Given the description of an element on the screen output the (x, y) to click on. 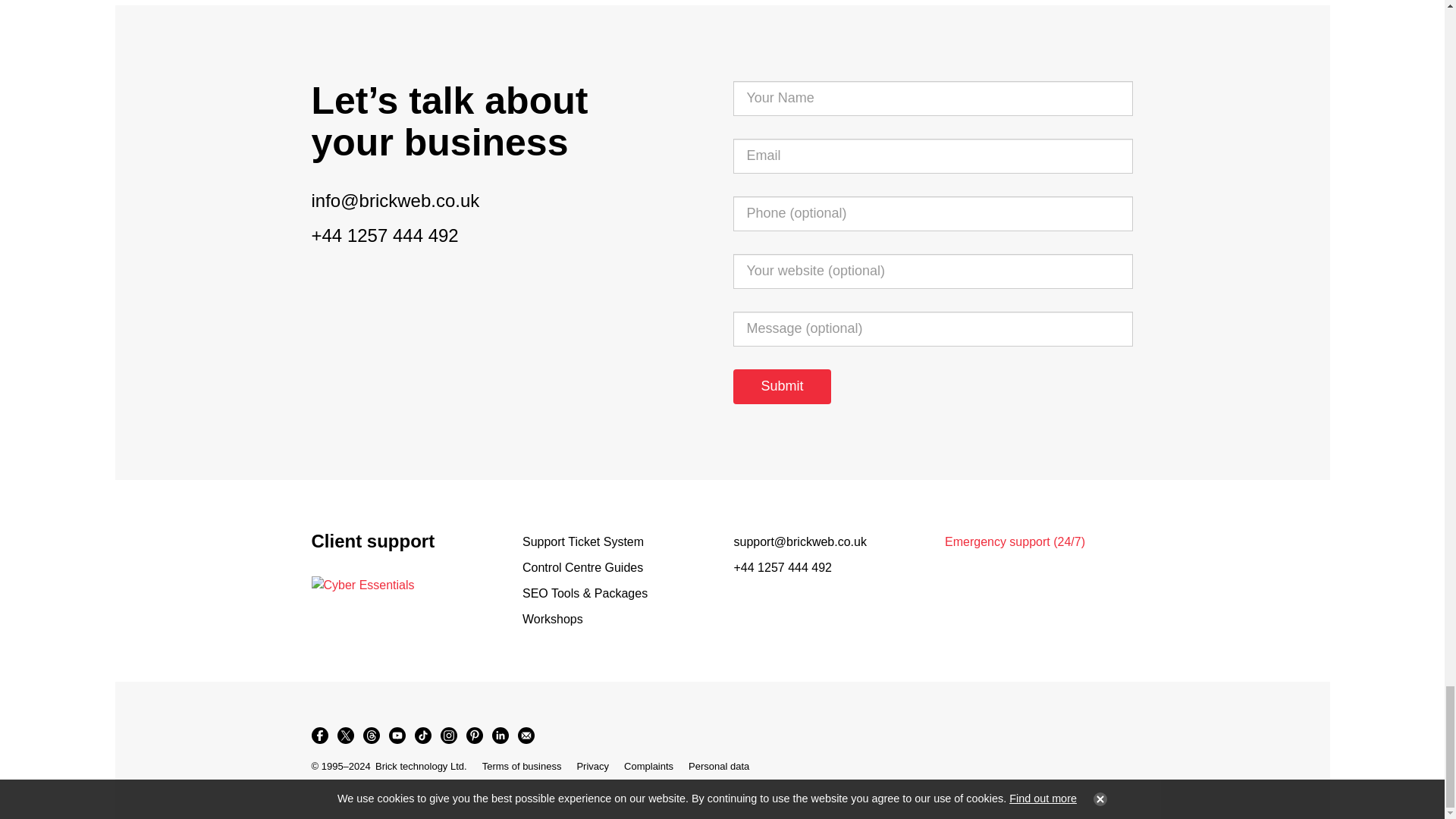
Threads (371, 735)
Pinterest (473, 735)
Newsletter (525, 735)
Get a copy of your personal data or Erase my personal data (718, 766)
TikTok (422, 735)
YouTube (396, 735)
Instagram (448, 735)
Facebook (318, 735)
